Given the description of an element on the screen output the (x, y) to click on. 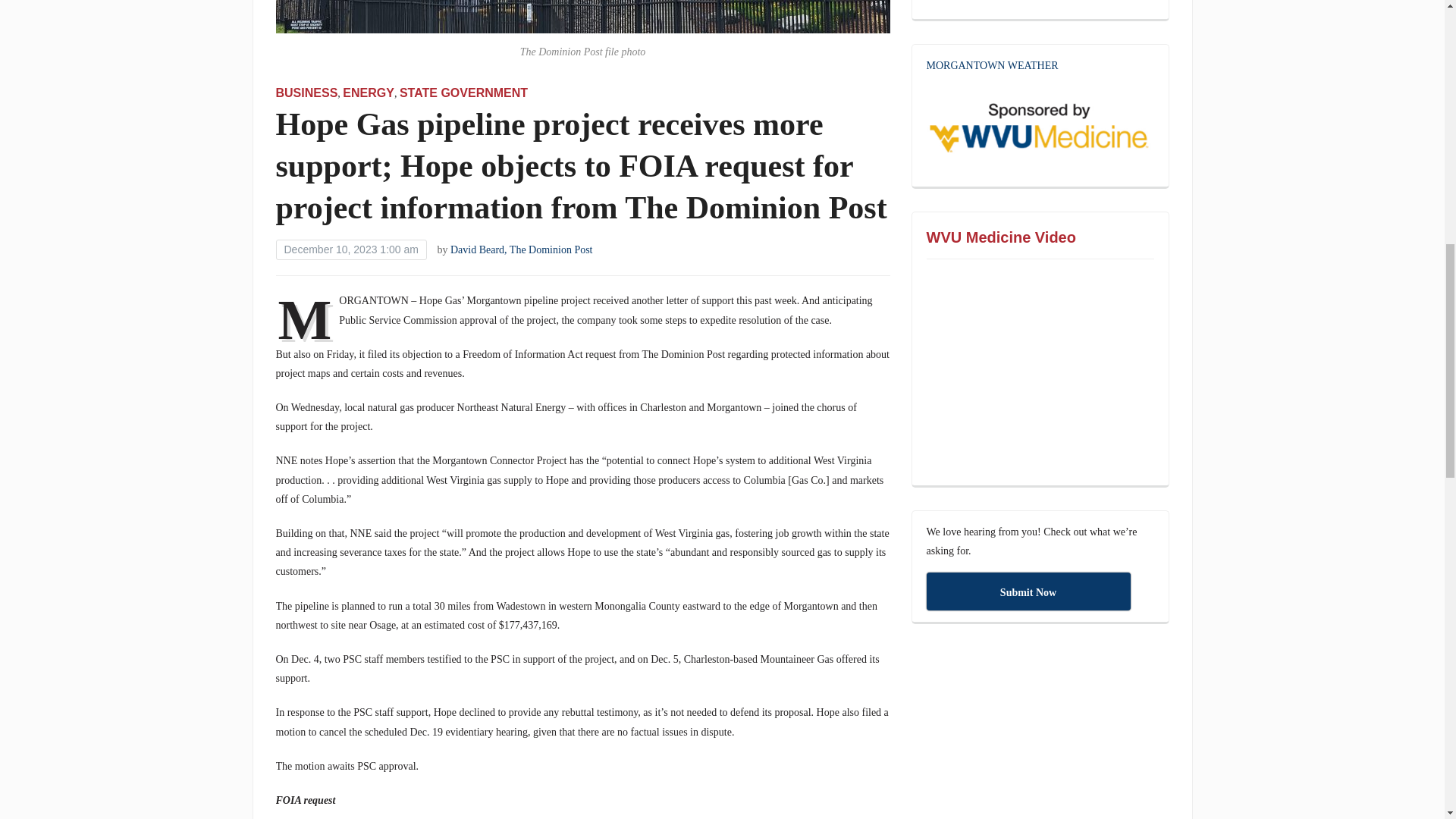
3rd party ad content (1038, 738)
YouTube video player (1040, 372)
3rd party ad content (1040, 3)
